Given the description of an element on the screen output the (x, y) to click on. 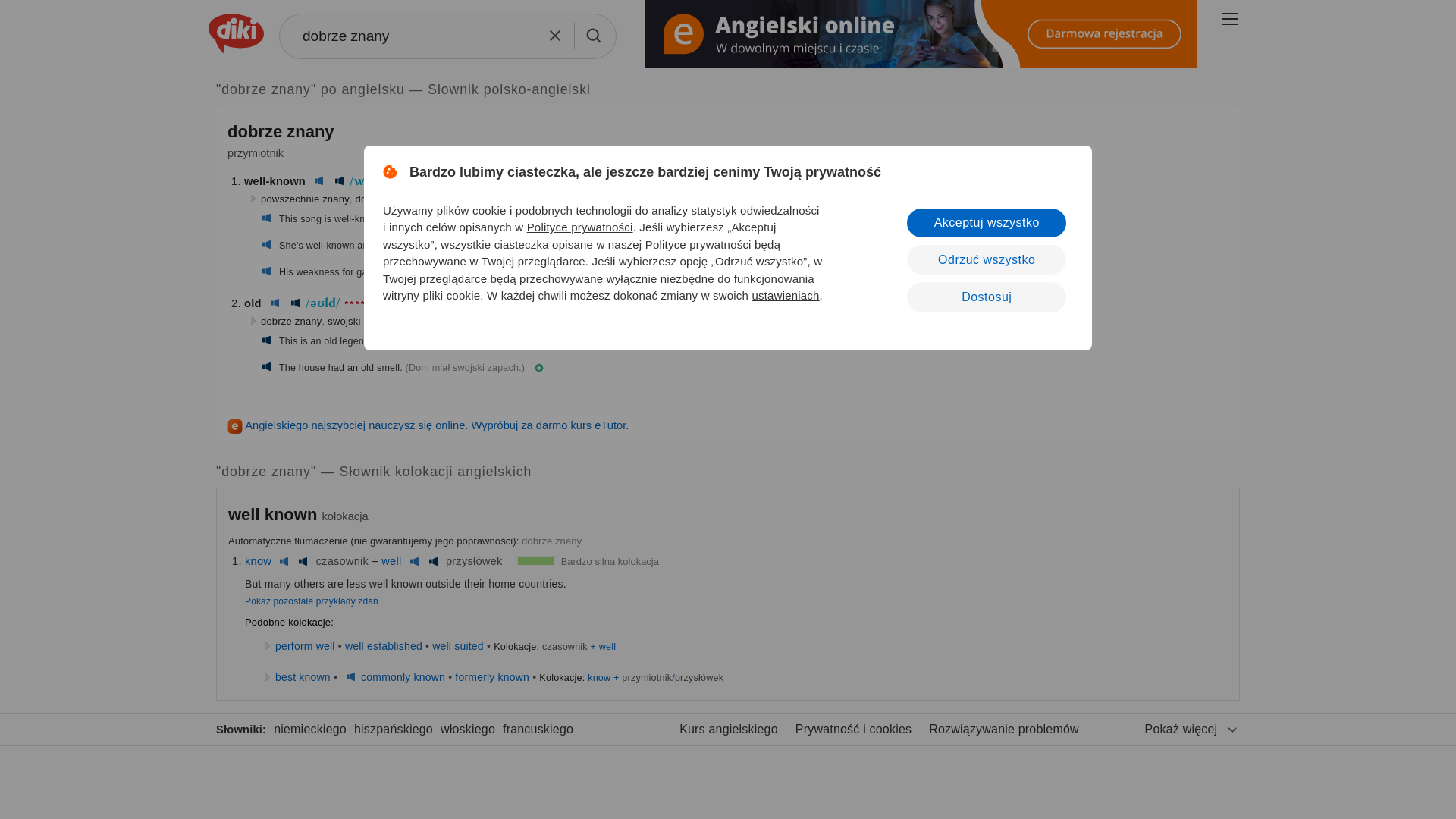
well (391, 561)
British English (318, 181)
American English (266, 340)
well-known (274, 181)
American English (266, 367)
dobrze znany (447, 35)
British English (274, 303)
powszechnie znany (304, 198)
British English (266, 218)
British English (266, 271)
